Given the description of an element on the screen output the (x, y) to click on. 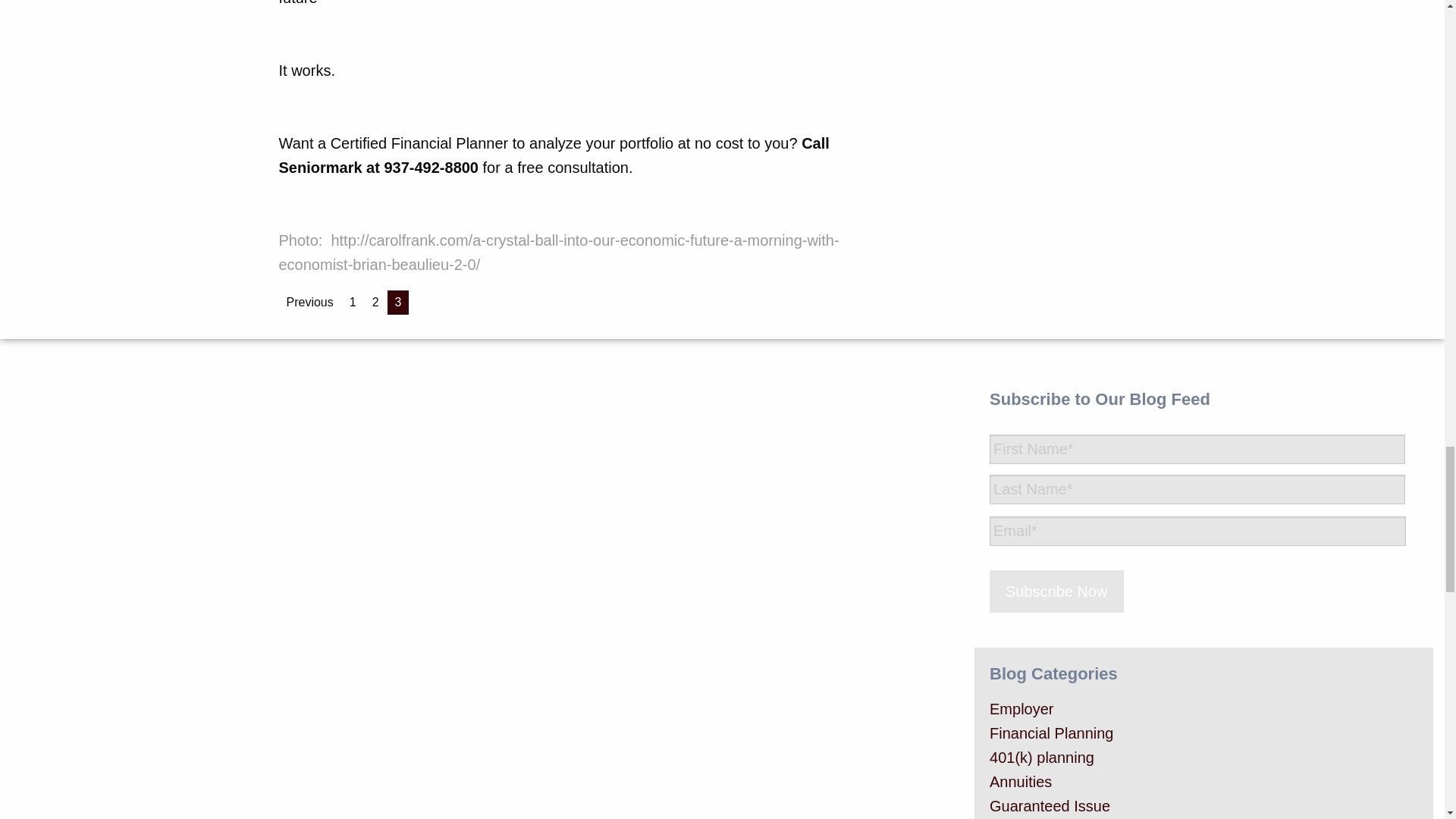
Subscribe Now (1057, 591)
